Given the description of an element on the screen output the (x, y) to click on. 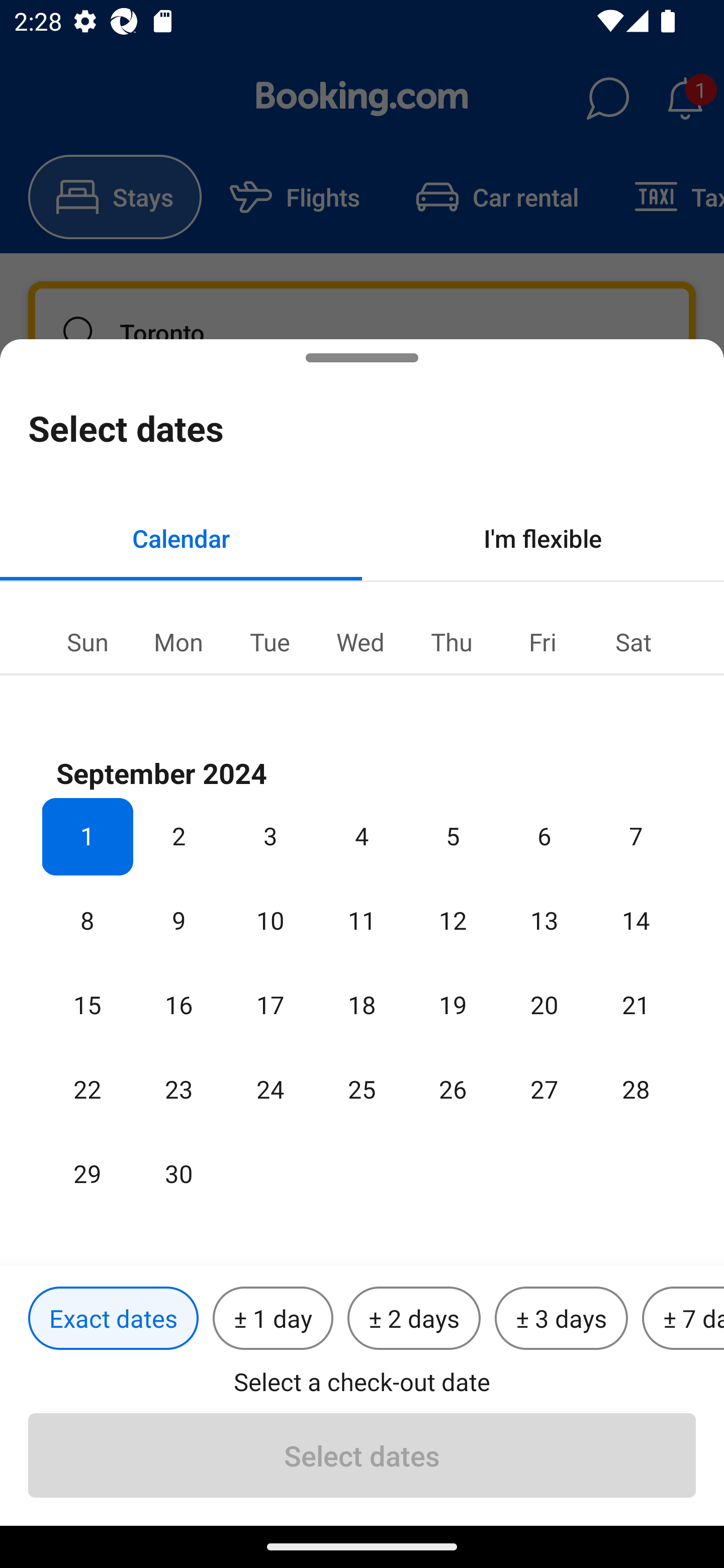
I'm flexible (543, 537)
Exact dates (113, 1318)
± 1 day (272, 1318)
± 2 days (413, 1318)
± 3 days (560, 1318)
± 7 days (683, 1318)
Select dates (361, 1454)
